Given the description of an element on the screen output the (x, y) to click on. 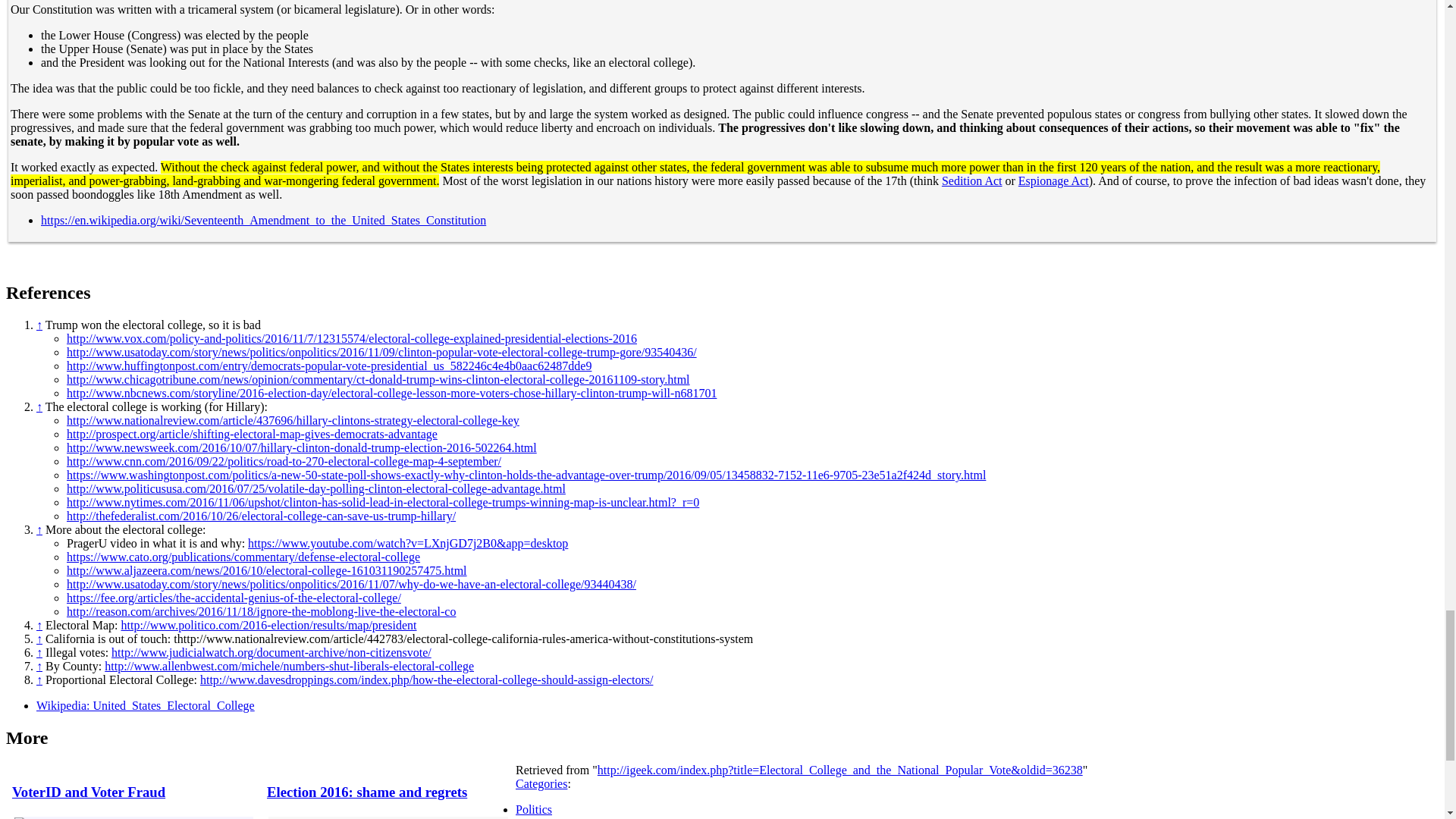
Category:History (533, 817)
wikipedia:United States Electoral College (145, 705)
Election 2016: shame and regrets (366, 791)
VoterID and Voter Fraud (88, 791)
Special:Categories (541, 783)
Category:Politics (533, 809)
